Given the description of an element on the screen output the (x, y) to click on. 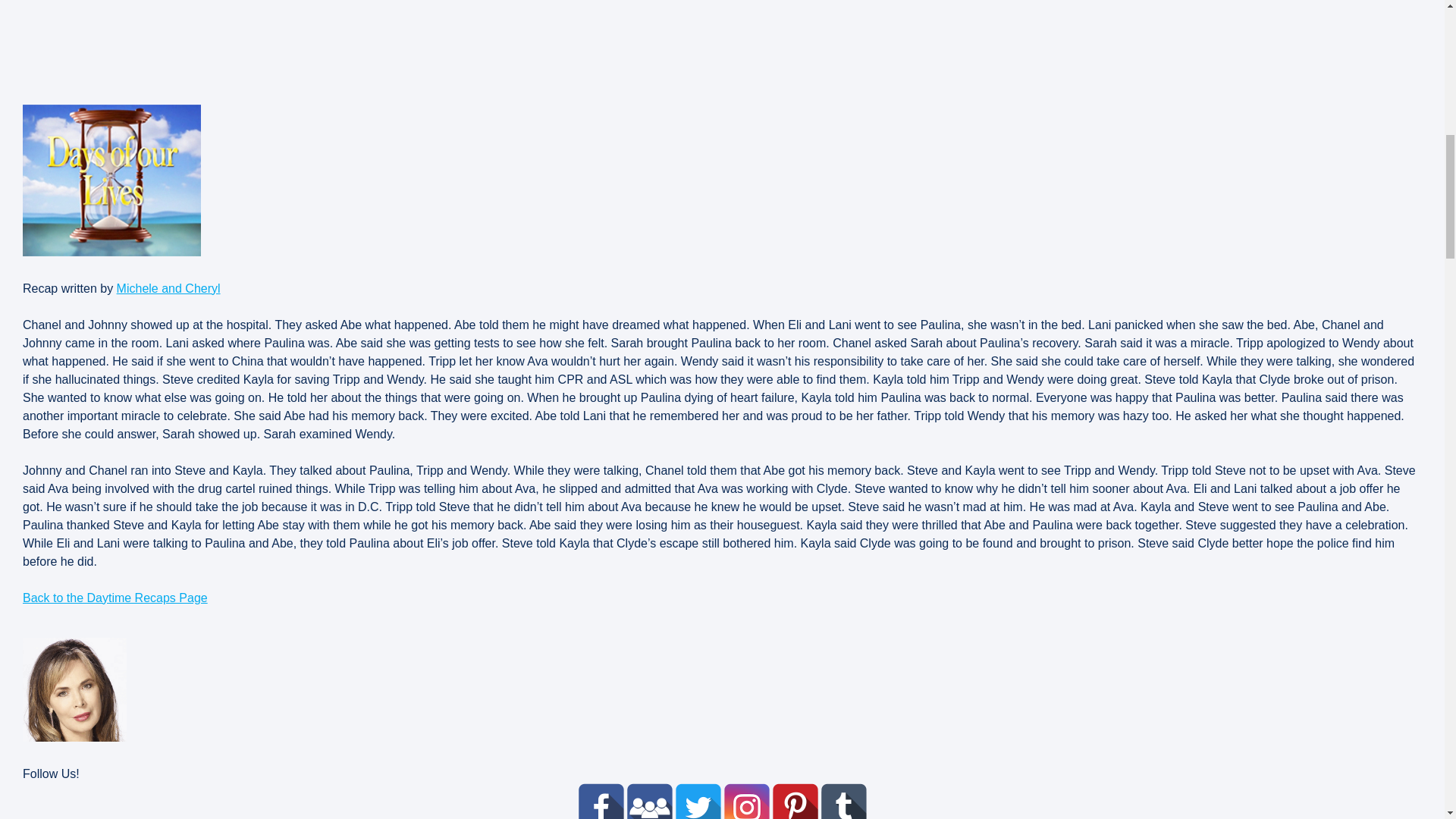
Advertisement (478, 46)
Twitter (697, 800)
Tumblr (842, 800)
Facebook Group (648, 800)
Pinterest (794, 800)
Facebook (600, 800)
Michele and Cheryl (168, 287)
Back to the Daytime Recaps Page (115, 597)
Instagram (746, 800)
